Given the description of an element on the screen output the (x, y) to click on. 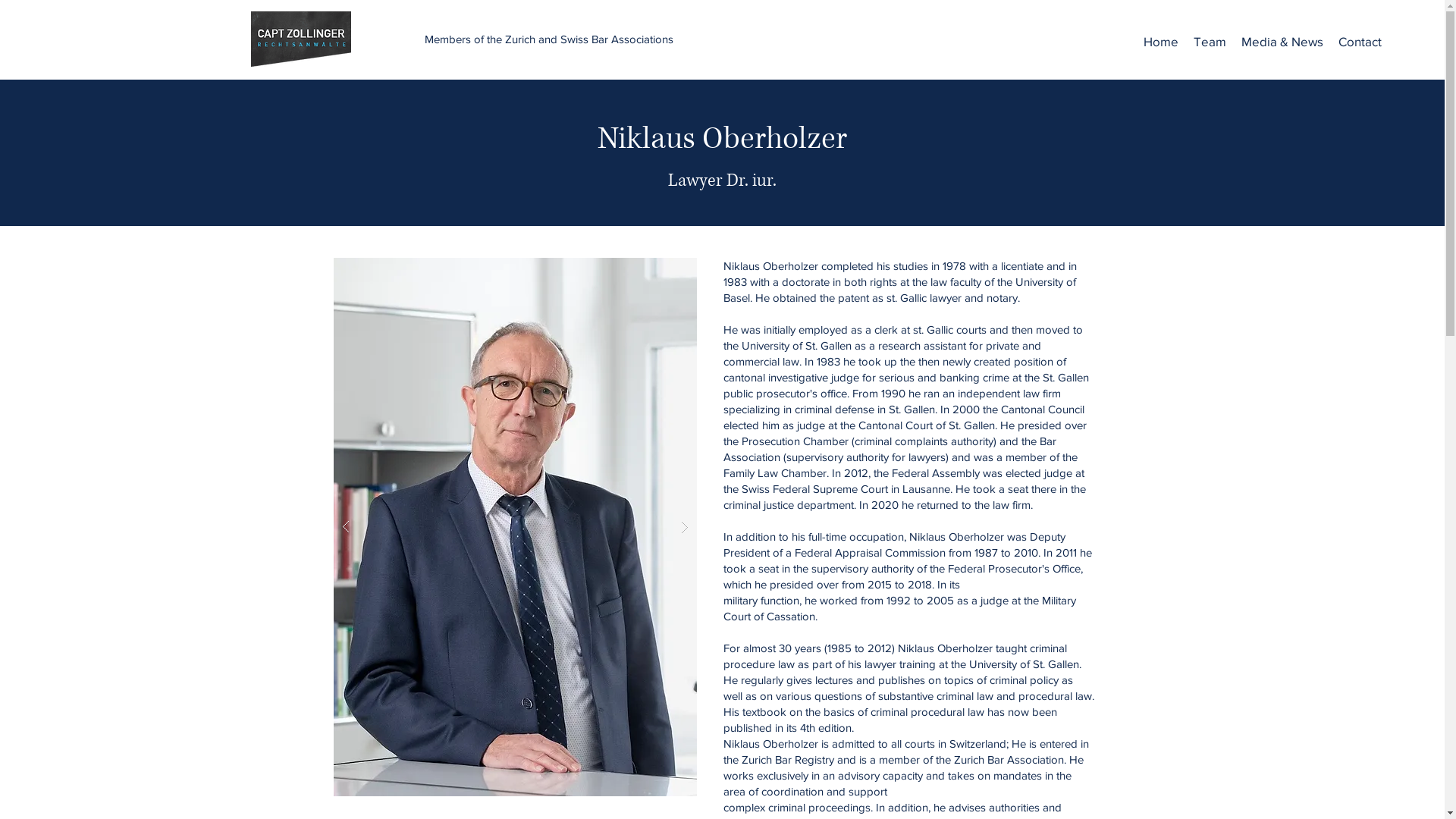
Home Element type: text (1160, 41)
Contact Element type: text (1359, 41)
Media & News Element type: text (1281, 41)
